Given the description of an element on the screen output the (x, y) to click on. 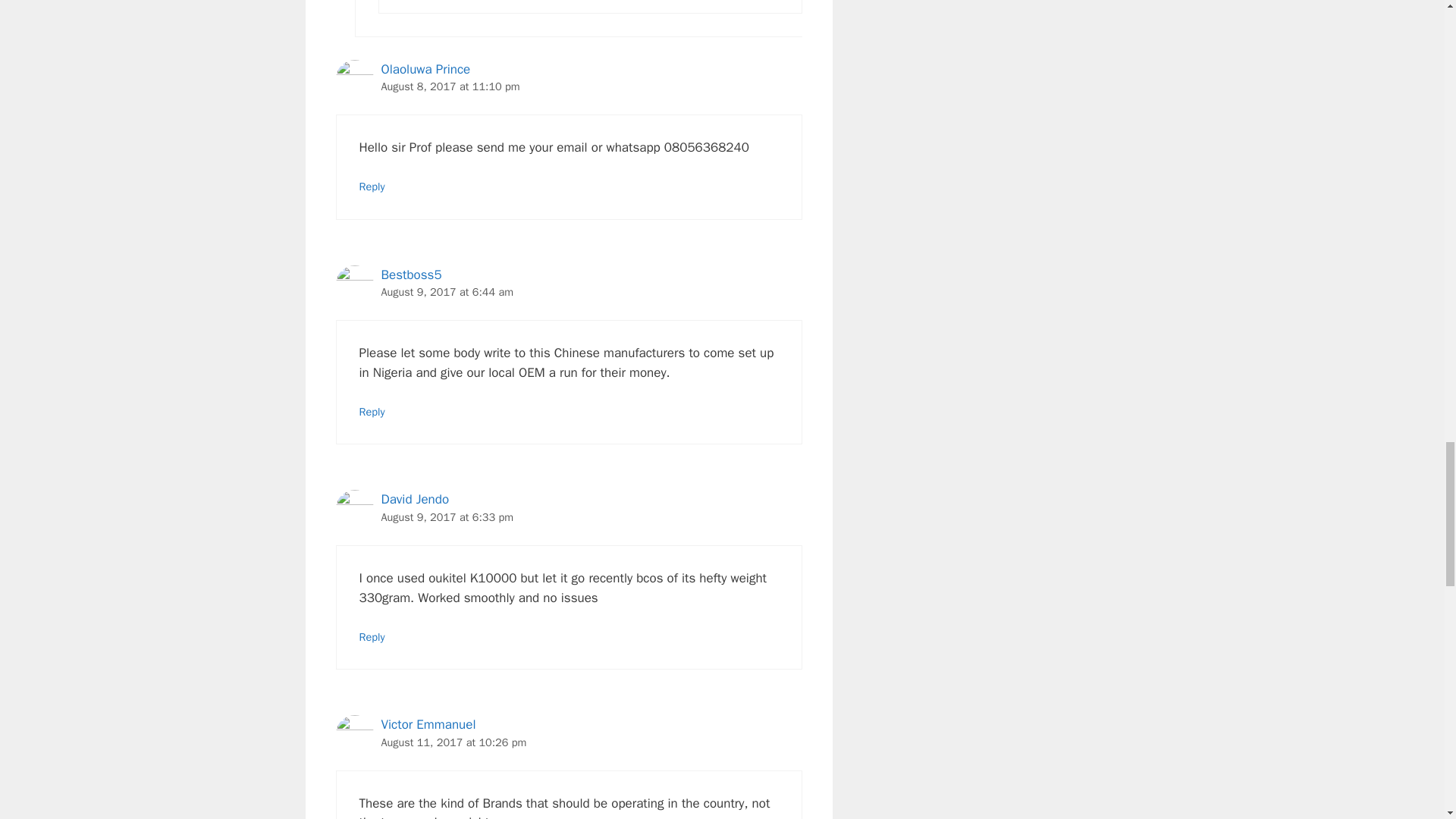
Reply (372, 411)
Bestboss5 (410, 274)
August 9, 2017 at 6:44 am (446, 291)
Olaoluwa Prince (425, 68)
August 8, 2017 at 11:10 pm (449, 86)
Reply (372, 186)
